Given the description of an element on the screen output the (x, y) to click on. 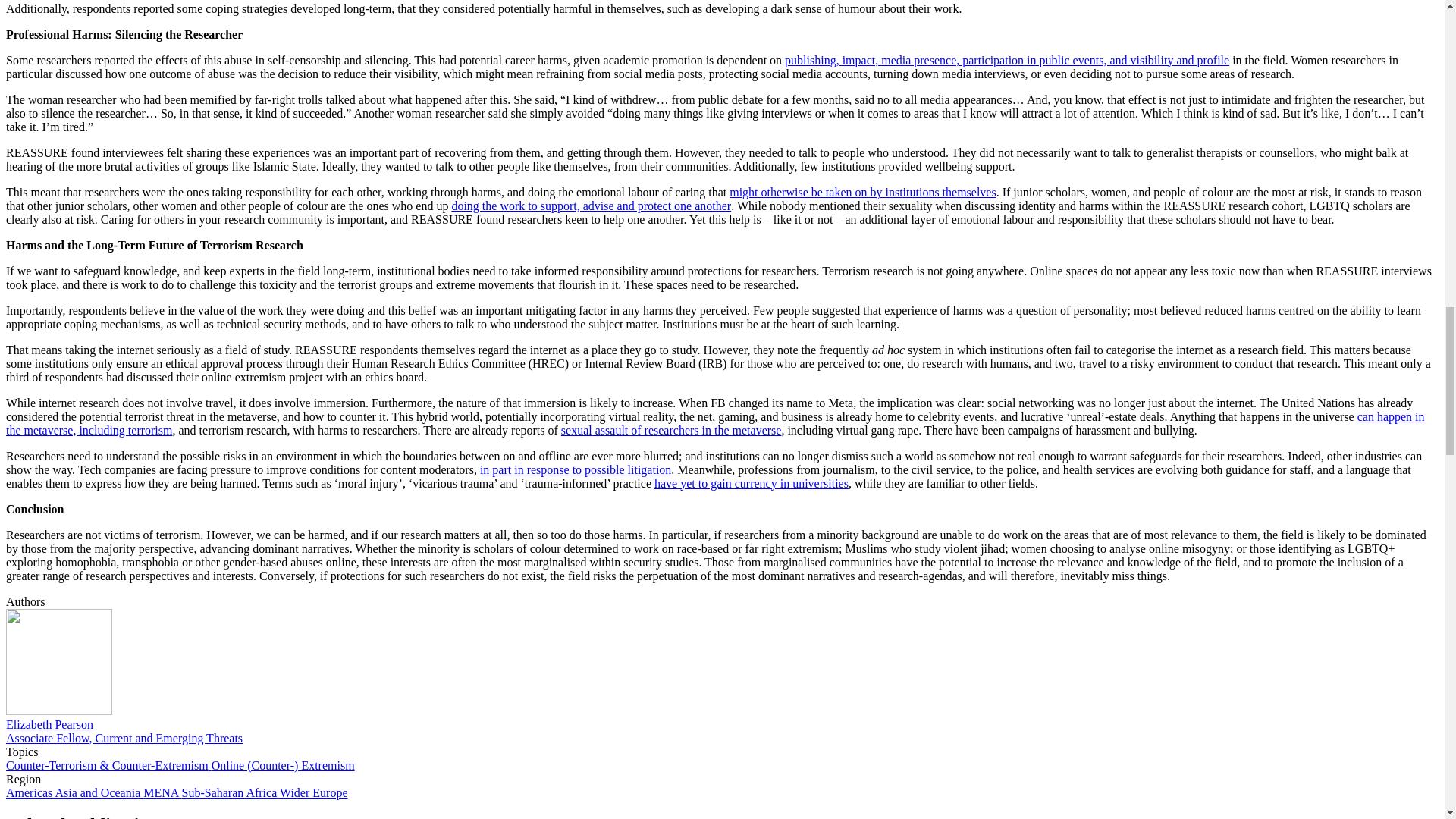
can happen in the metaverse, including terrorism (715, 422)
Asia and Oceania (98, 791)
MENA (161, 791)
have yet to gain currency in universities (750, 481)
doing the work to support, advise and protect one another (590, 205)
sexual assault of researchers in the metaverse (670, 429)
might otherwise be taken on by institutions themselves (862, 191)
Americas (30, 791)
Wider Europe (313, 791)
Sub-Saharan Africa (230, 791)
in part in response to possible litigation (575, 468)
